Given the description of an element on the screen output the (x, y) to click on. 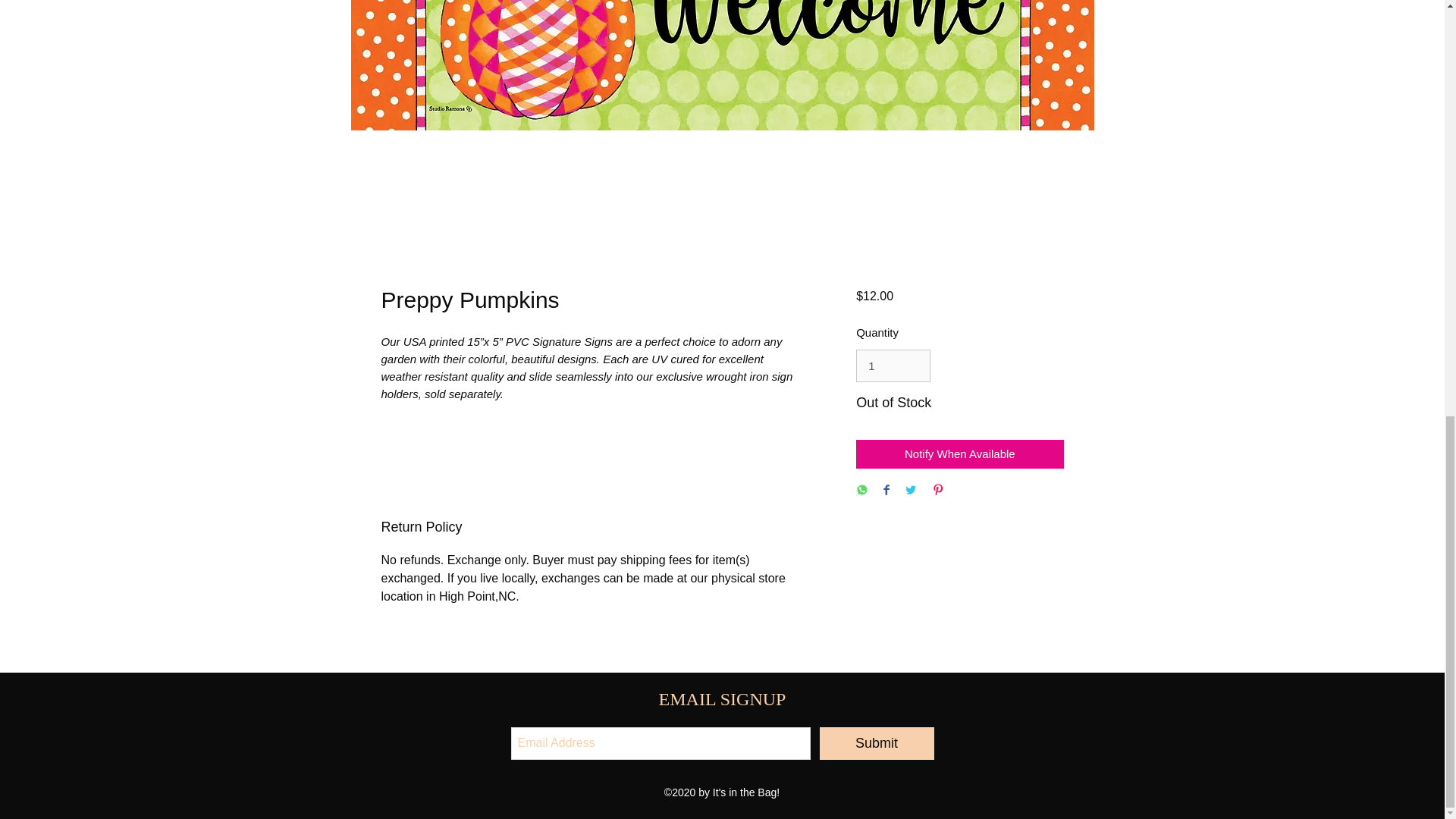
Notify When Available (959, 454)
1 (893, 366)
Submit (875, 743)
